Given the description of an element on the screen output the (x, y) to click on. 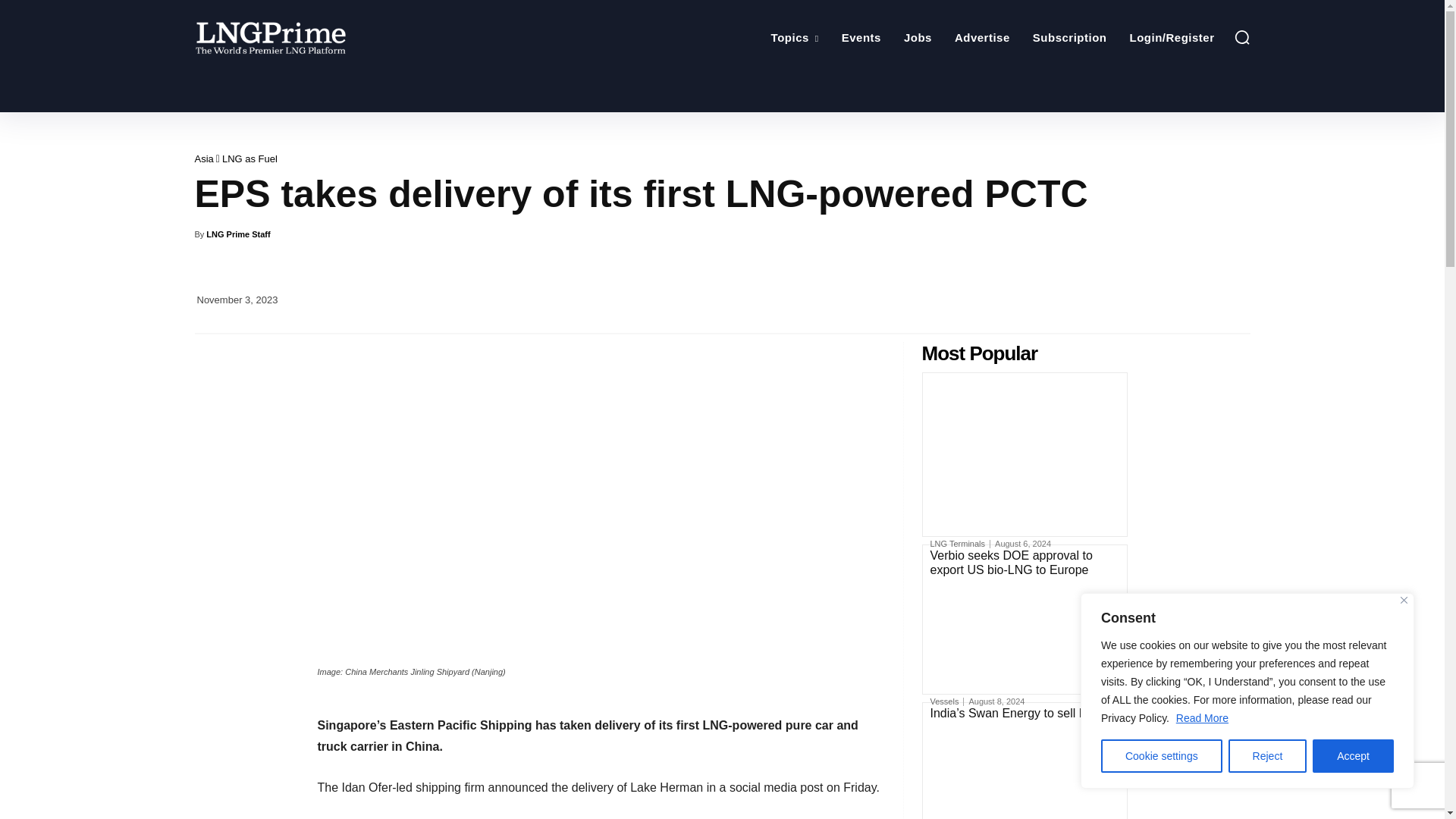
Accept (1353, 756)
Read More (1201, 717)
Reject (1267, 756)
Cookie settings (1161, 756)
